Given the description of an element on the screen output the (x, y) to click on. 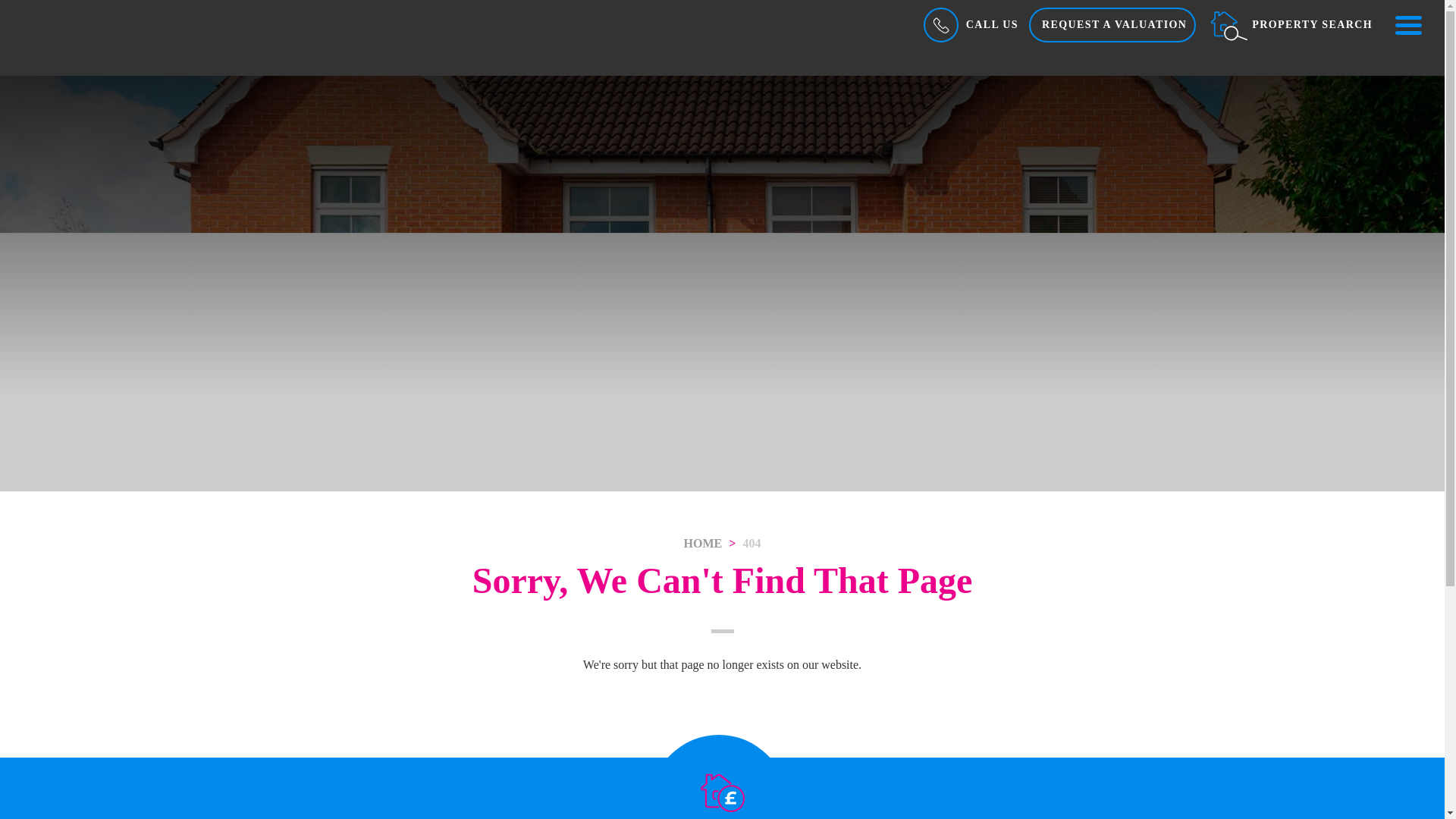
PROPERTY SEARCH (1291, 24)
REQUEST A VALUATION (1112, 24)
MENU (1406, 24)
CALL US (969, 24)
404 (751, 543)
HOME (703, 543)
